Given the description of an element on the screen output the (x, y) to click on. 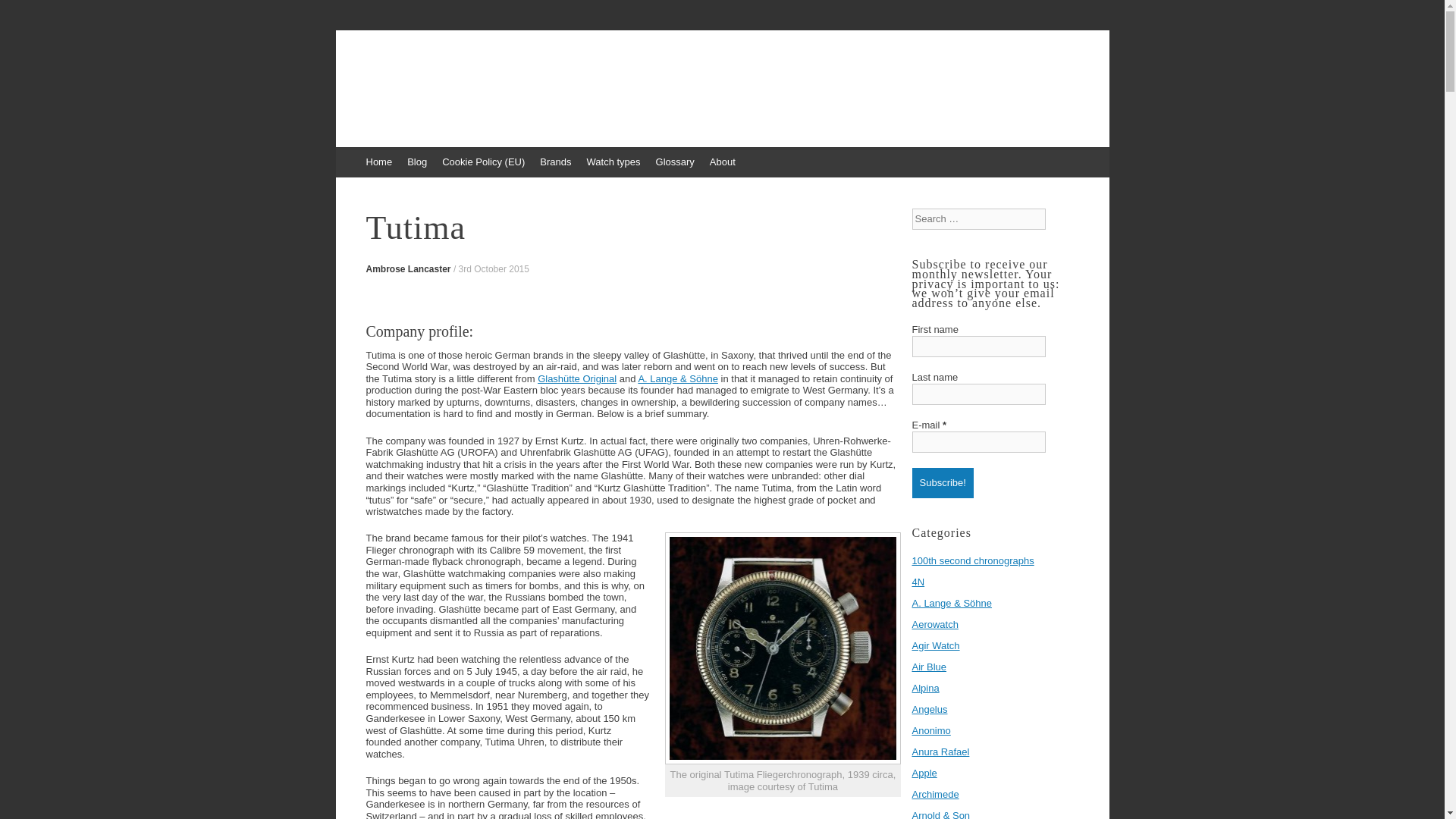
Blog (415, 162)
About (721, 162)
Glossary (674, 162)
Ambrose Lancaster (407, 268)
Last name (978, 394)
First name (978, 346)
E-mail (978, 441)
Search (23, 15)
Subscribe! (941, 482)
Watch types (613, 162)
